Given the description of an element on the screen output the (x, y) to click on. 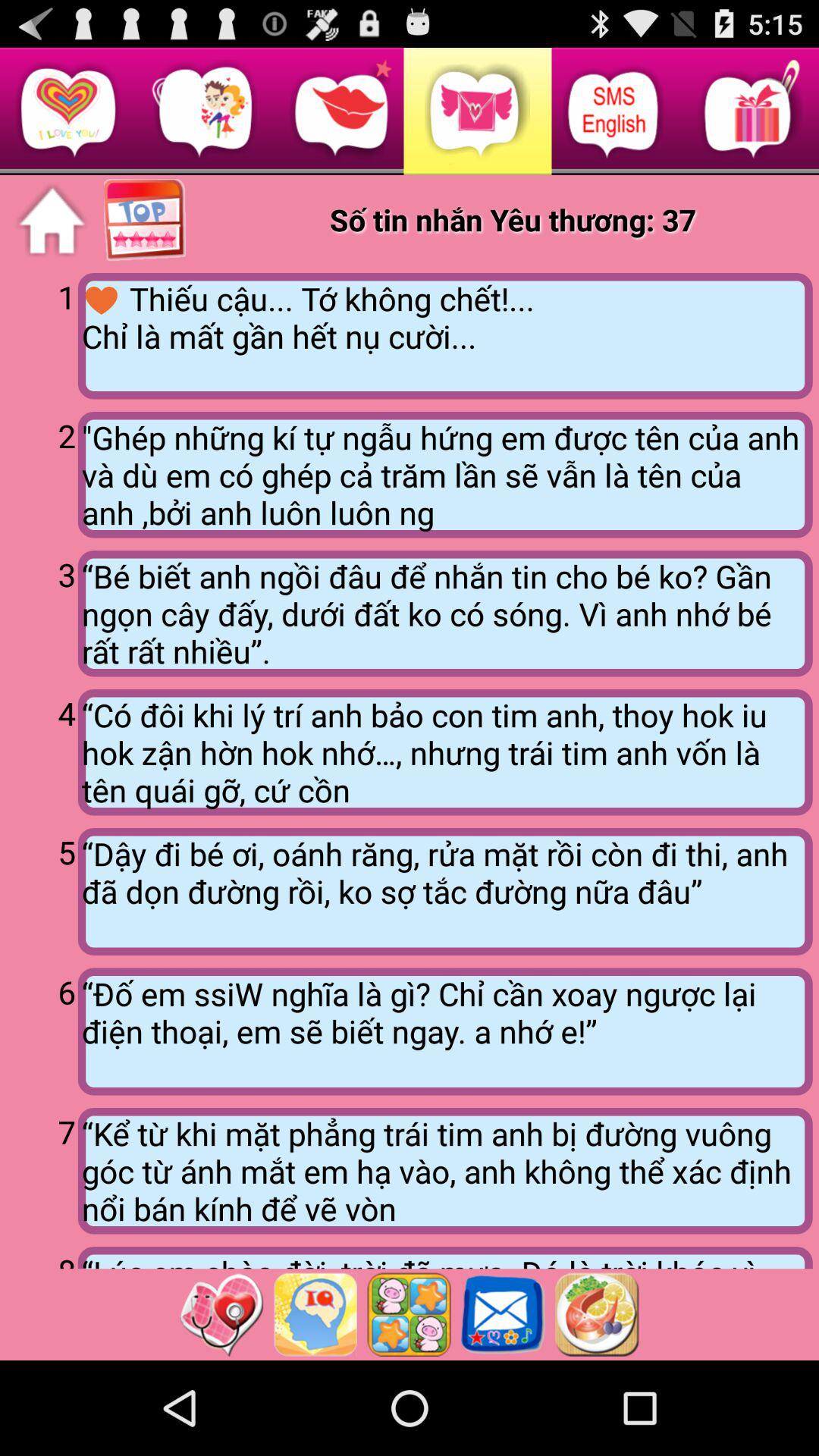
launch the item above the 1 app (51, 220)
